Given the description of an element on the screen output the (x, y) to click on. 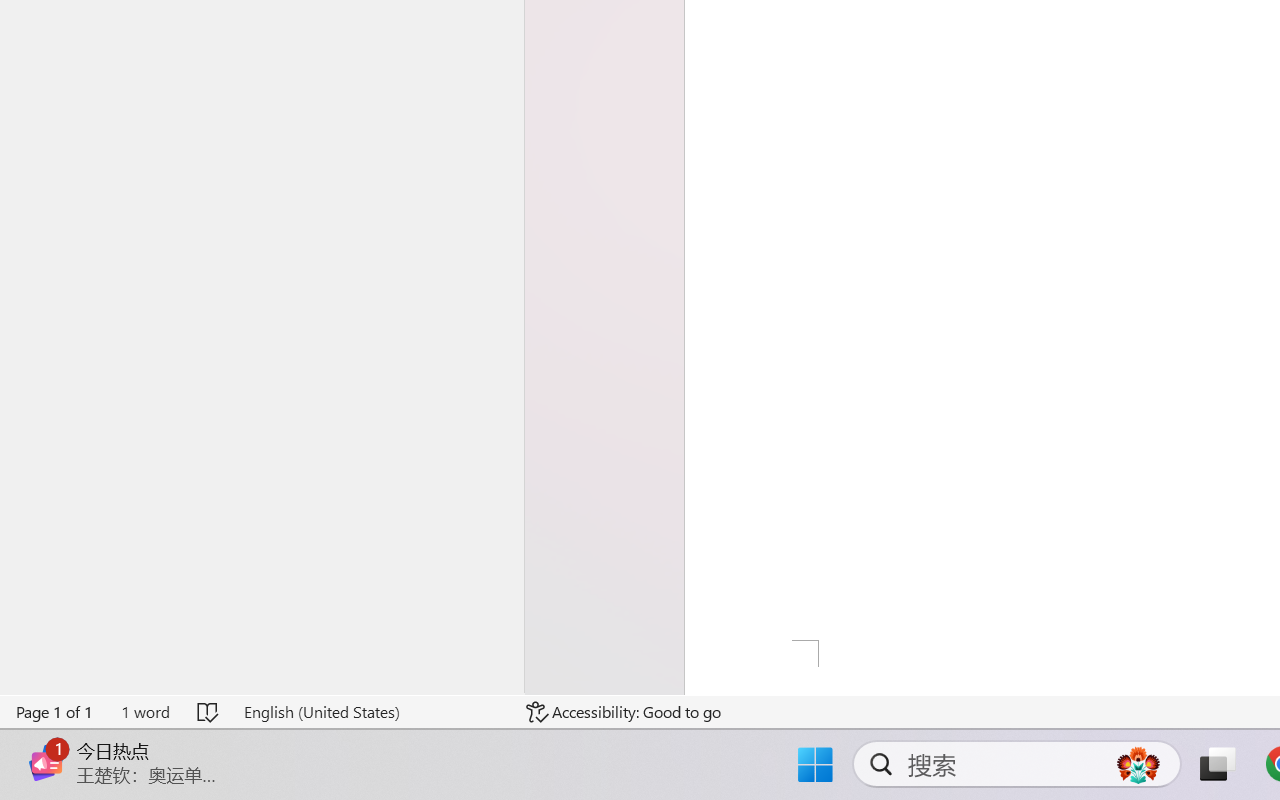
AutomationID: DynamicSearchBoxGleamImage (1138, 764)
Word Count 1 word (145, 712)
Accessibility Checker Accessibility: Good to go (623, 712)
Page Number Page 1 of 1 (55, 712)
Spelling and Grammar Check No Errors (208, 712)
Language English (United States) (370, 712)
Class: Image (46, 762)
